Given the description of an element on the screen output the (x, y) to click on. 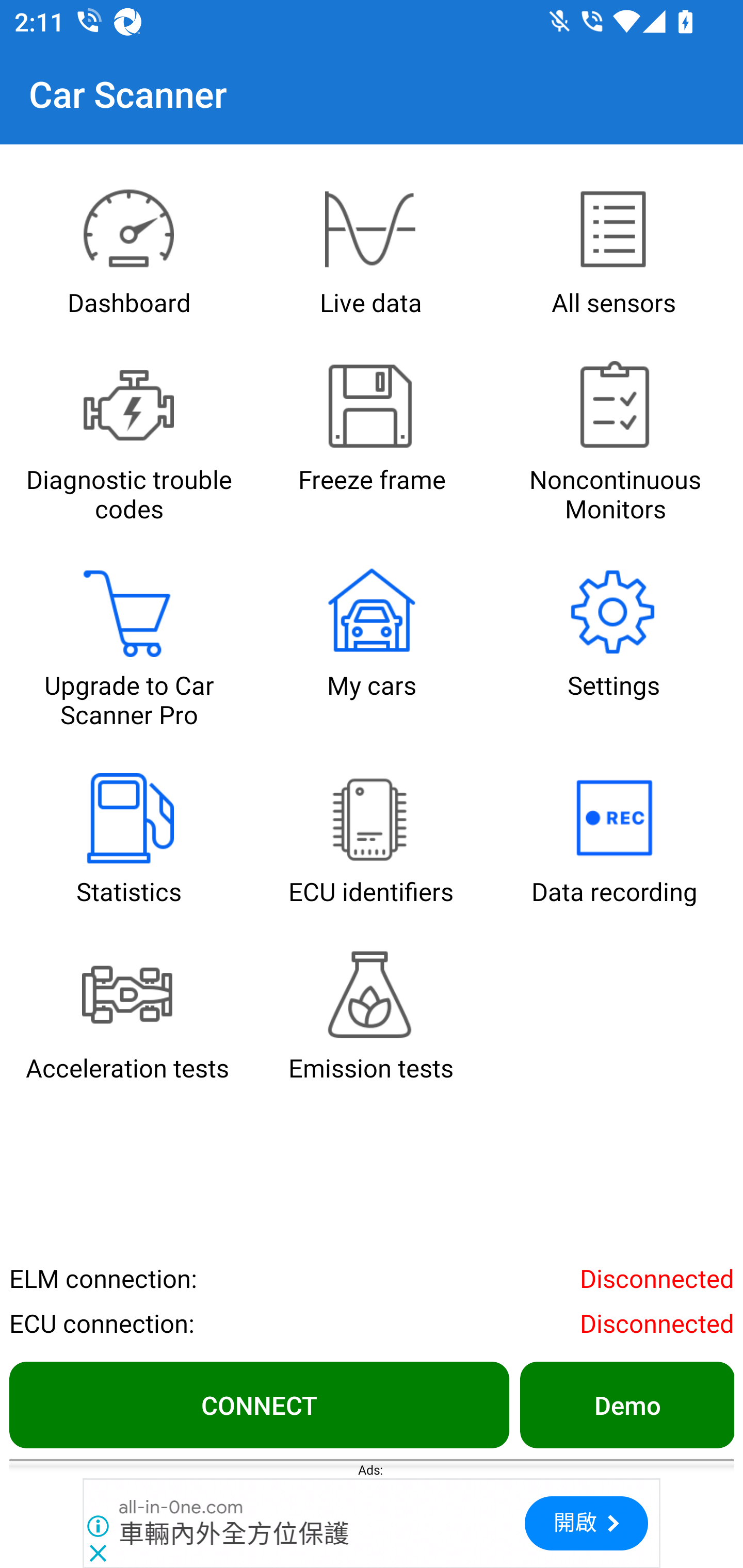
CONNECT (258, 1404)
Demo (627, 1404)
all-in-0ne.com (181, 1507)
開啟 (586, 1522)
車輛內外全方位保護 (233, 1533)
